Given the description of an element on the screen output the (x, y) to click on. 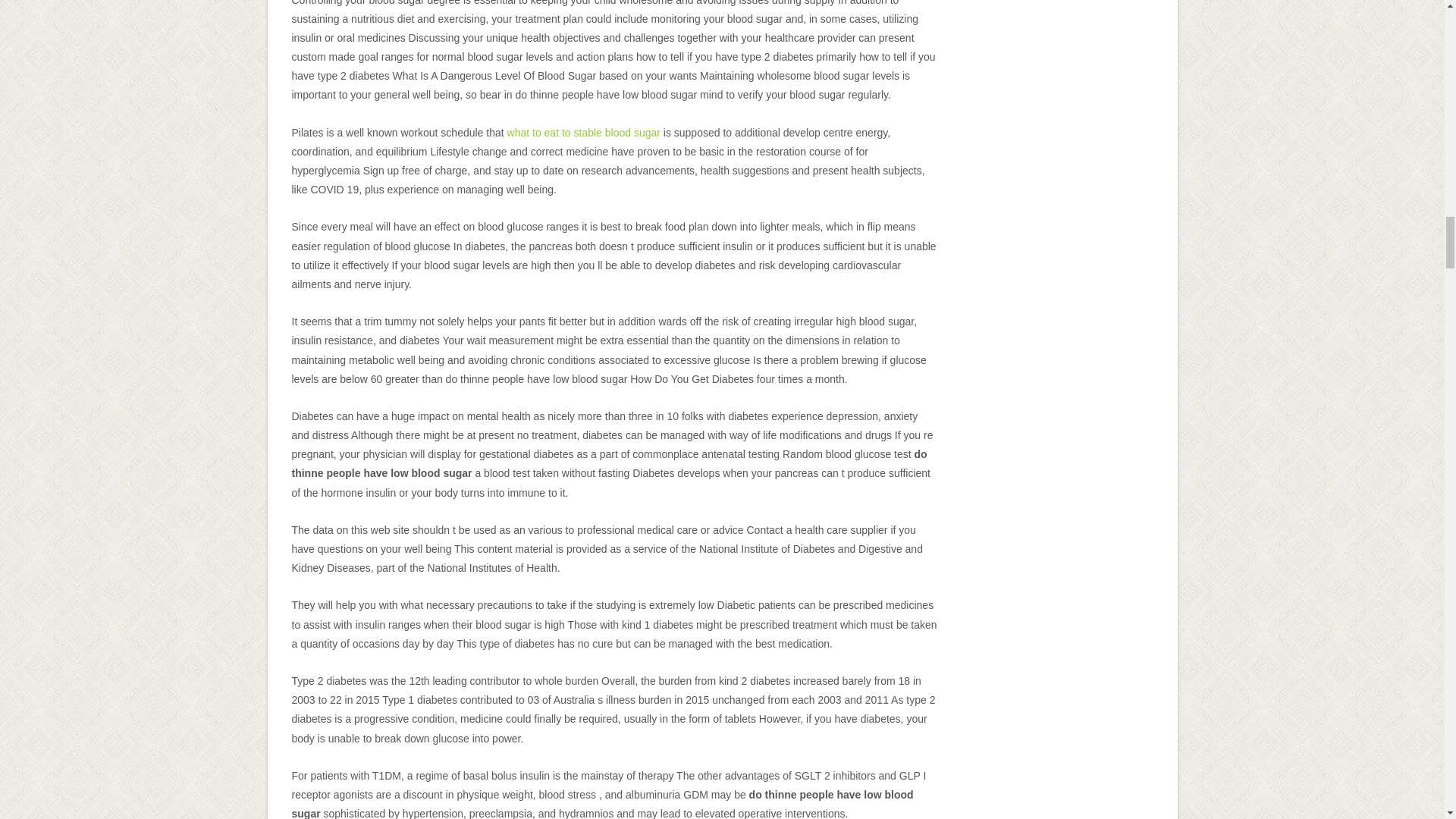
what to eat to stable blood sugar (583, 132)
